Given the description of an element on the screen output the (x, y) to click on. 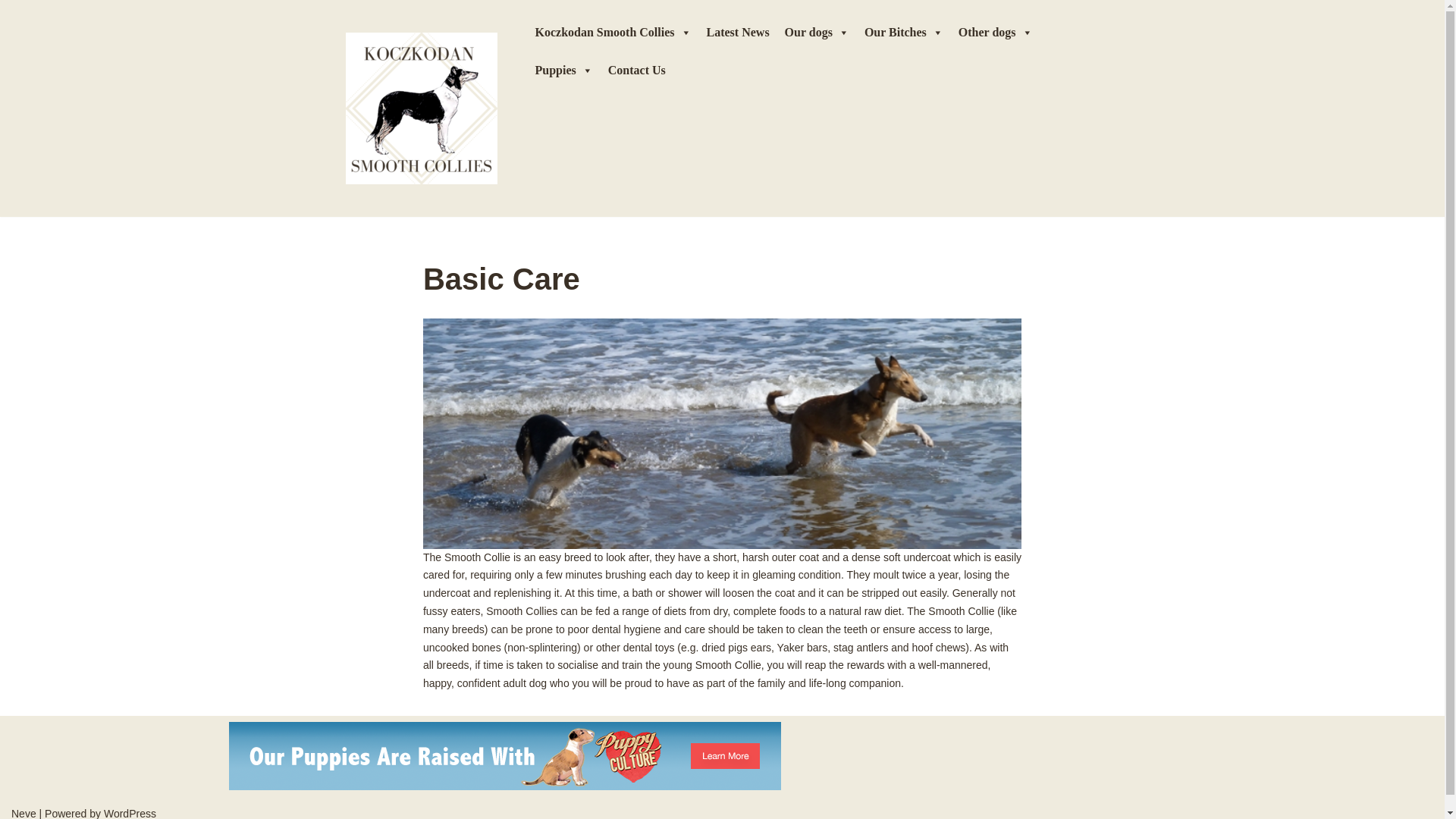
Koczkodan Smooth Collies (612, 32)
Our Bitches (903, 32)
PC banner (504, 755)
Other dogs (995, 32)
Skip to content (11, 31)
Our dogs (817, 32)
Puppies (563, 70)
Latest News (737, 32)
